Given the description of an element on the screen output the (x, y) to click on. 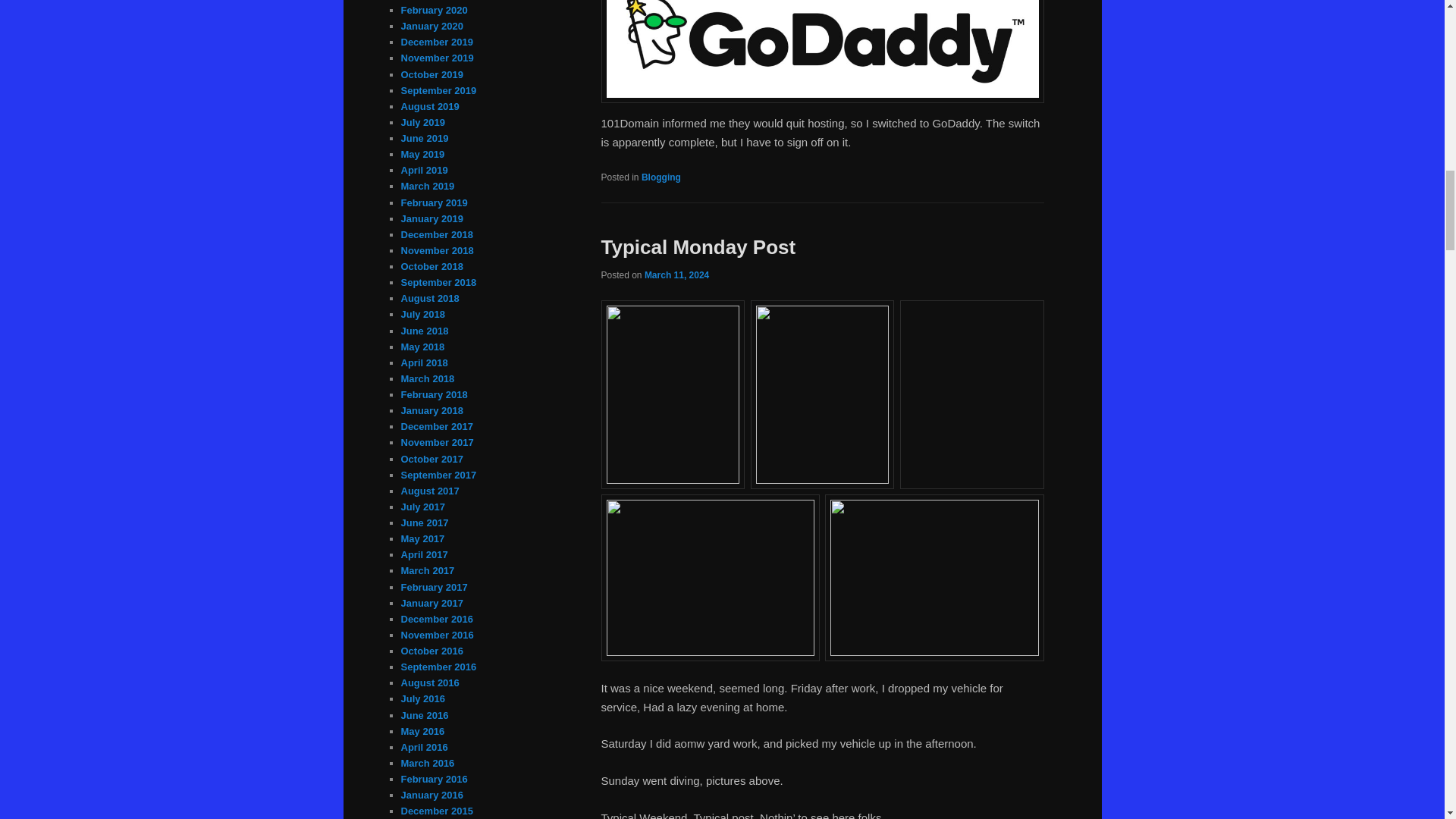
March 11, 2024 (677, 275)
Blogging (661, 176)
6:50 am (677, 275)
Typical Monday Post (696, 246)
